Given the description of an element on the screen output the (x, y) to click on. 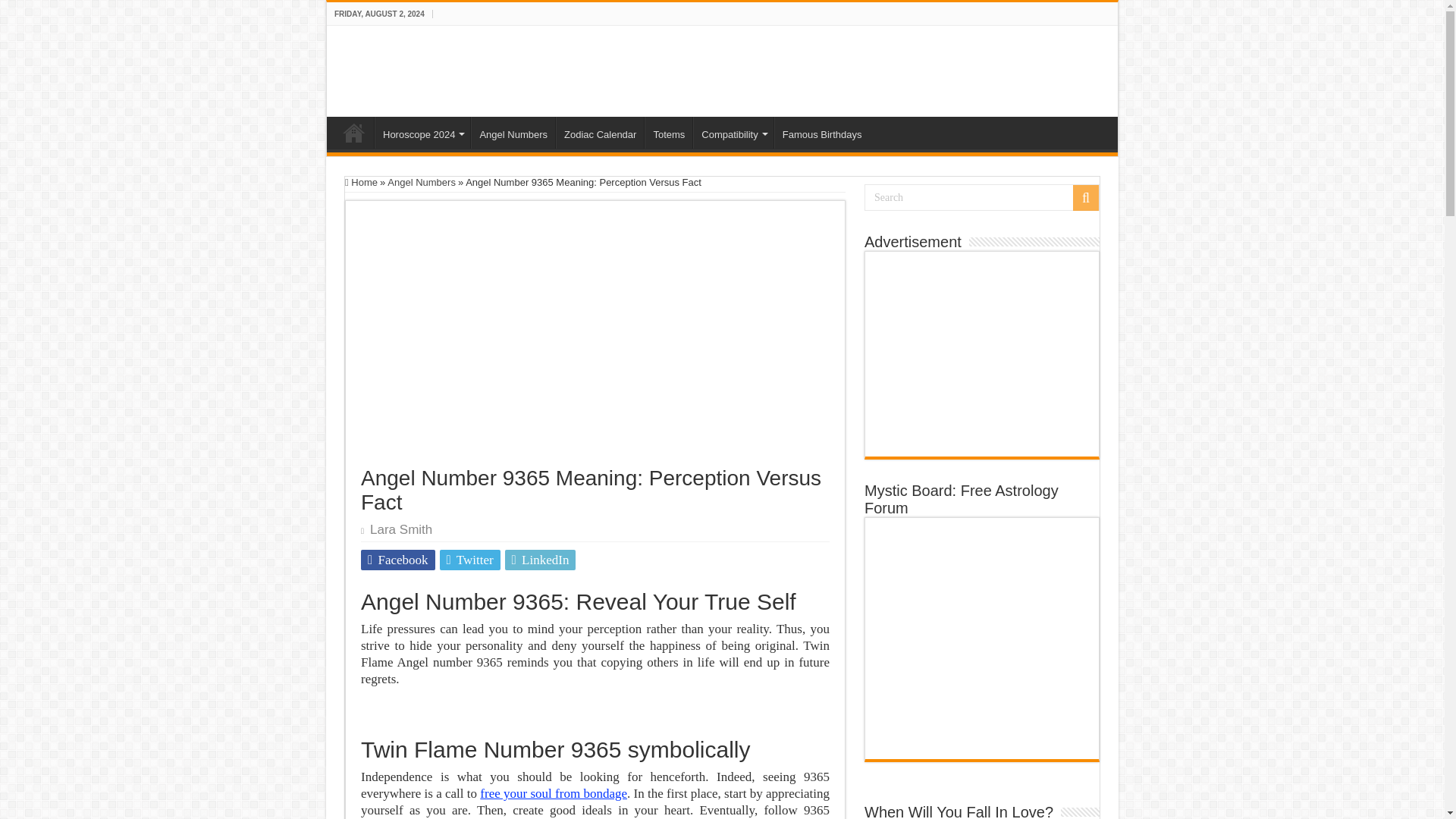
LinkedIn (540, 559)
Zodiac Calendar (599, 132)
Sun Signs (354, 132)
free your soul from bondage (553, 793)
Zodiac Calendar (599, 132)
Lara Smith (400, 529)
Sun Signs (405, 67)
Search (981, 197)
Compatibility (733, 132)
Famous Birthdays (821, 132)
Compatibility (733, 132)
Home (361, 182)
Facebook (398, 559)
Horoscope 2024 (422, 132)
Angel Numbers (512, 132)
